Given the description of an element on the screen output the (x, y) to click on. 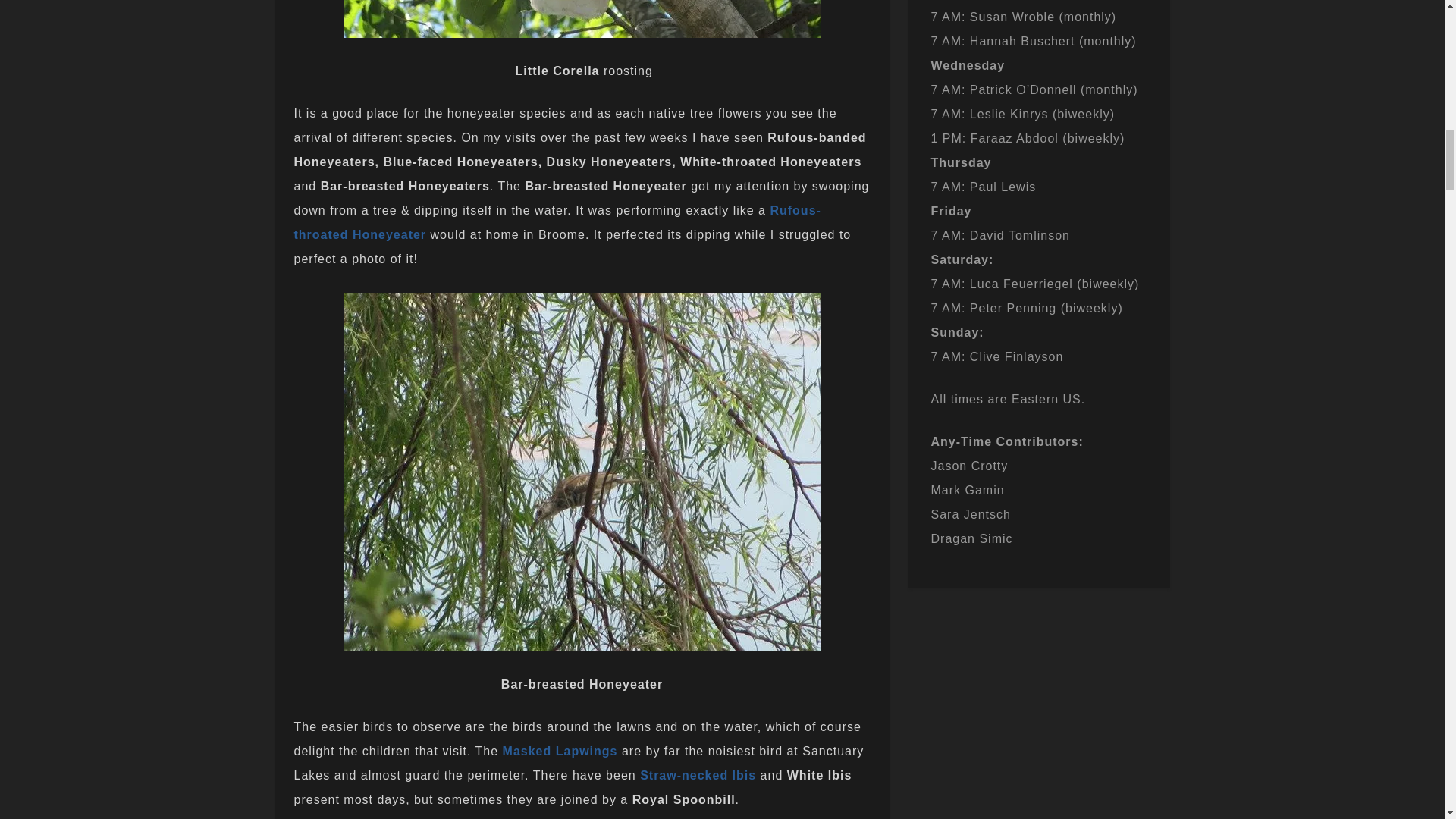
Rufous-throated Honeyeater (557, 221)
Straw-necked Ibis (697, 775)
Masked Lapwings (559, 750)
